Given the description of an element on the screen output the (x, y) to click on. 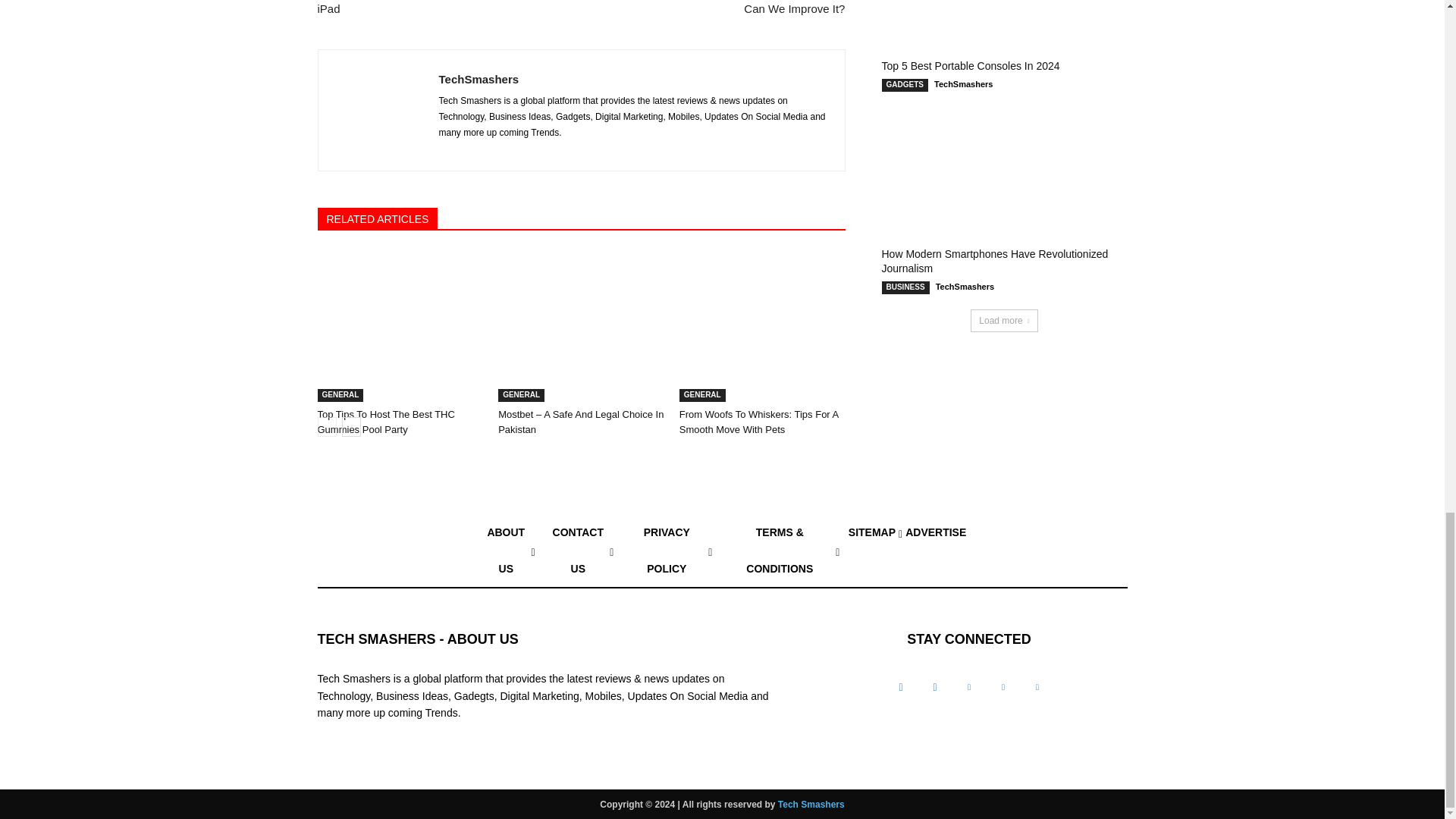
Top Tips To Host The Best THC Gummies Pool Party (400, 308)
Top Tips To Host The Best THC Gummies Pool Party (385, 421)
